Given the description of an element on the screen output the (x, y) to click on. 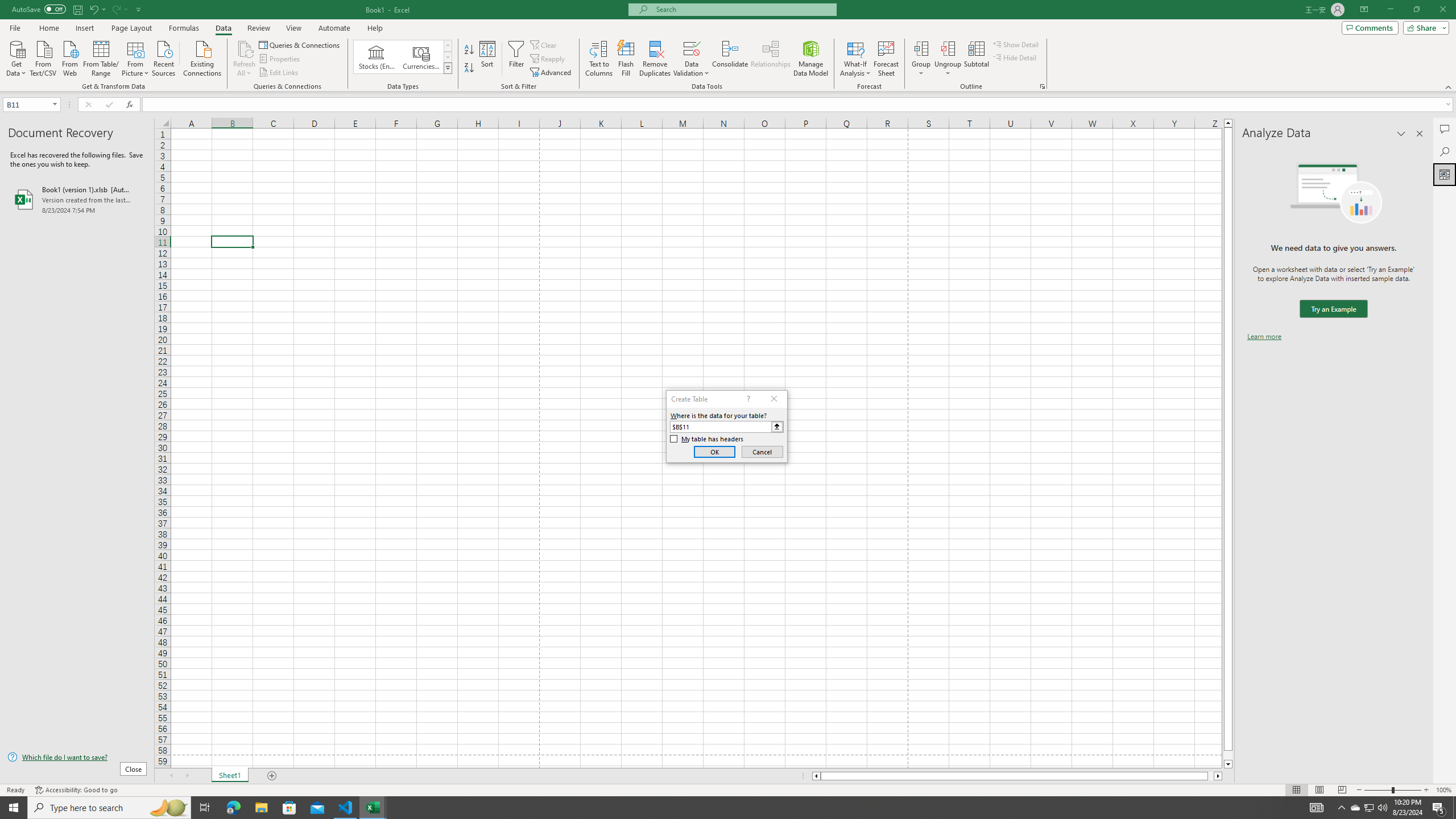
Line down (1228, 764)
Refresh All (244, 58)
Group... (921, 48)
Search (1444, 151)
Queries & Connections (300, 44)
Scroll Left (171, 775)
Data Validation... (691, 58)
Page right (1211, 775)
Sheet1 (229, 775)
Data Validation... (691, 48)
Sort A to Z (469, 49)
Redo (115, 9)
Manage Data Model (810, 58)
From Table/Range (100, 57)
Task Pane Options (1400, 133)
